Given the description of an element on the screen output the (x, y) to click on. 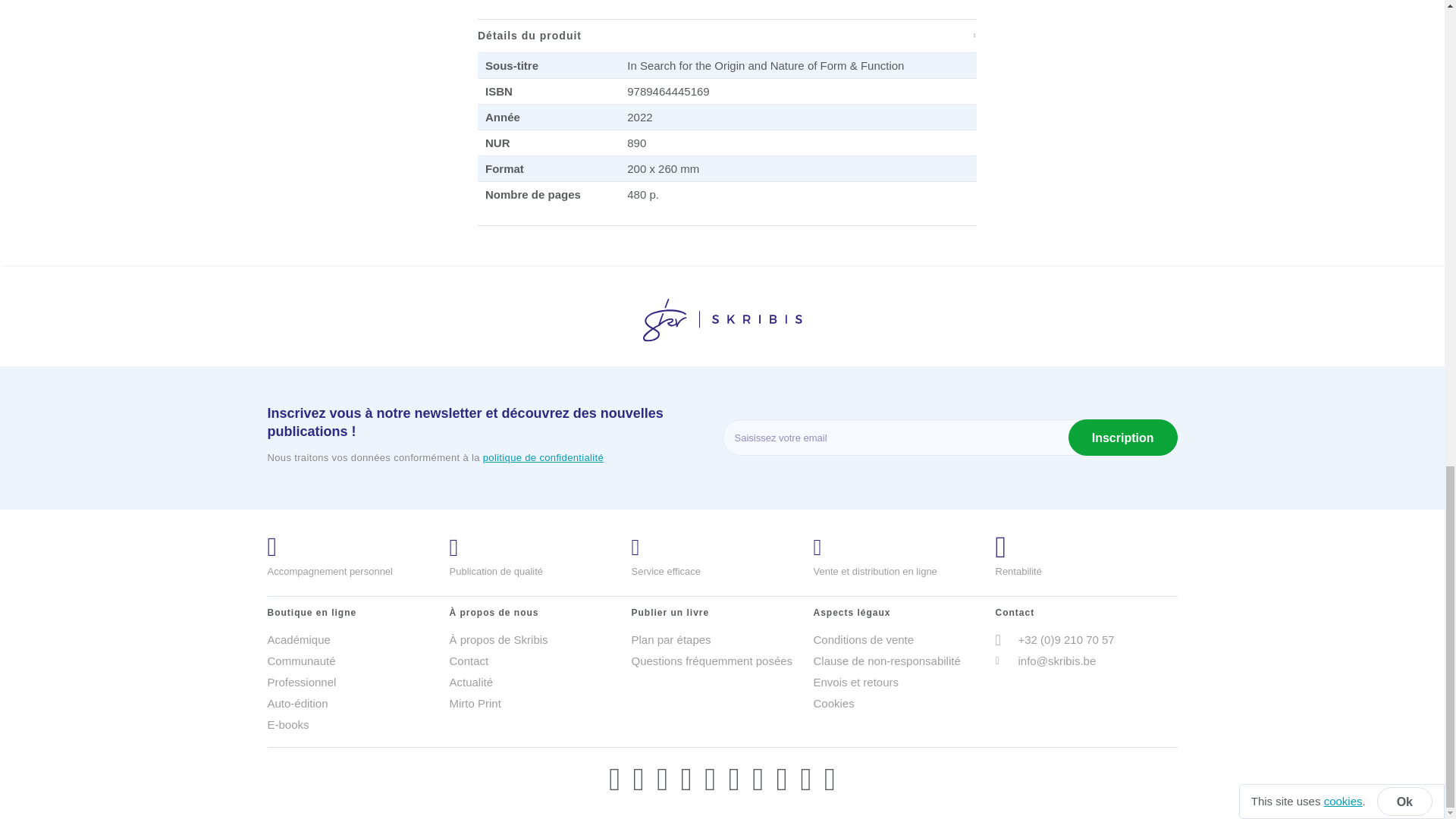
Mirto Print (539, 703)
Skribis (722, 322)
Skribis (722, 320)
Inscription (1122, 437)
